Given the description of an element on the screen output the (x, y) to click on. 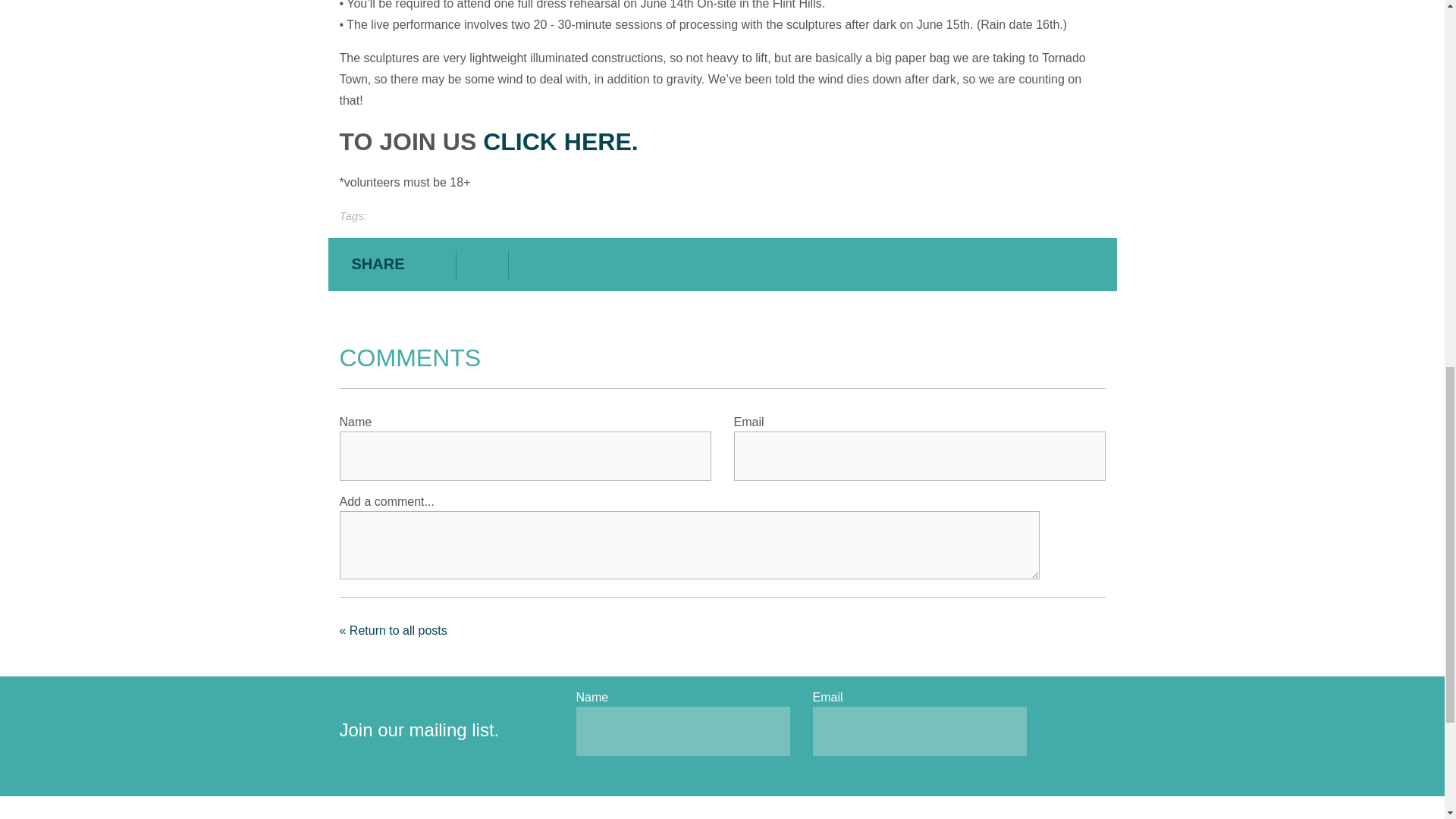
CLICK HERE. (560, 141)
